Given the description of an element on the screen output the (x, y) to click on. 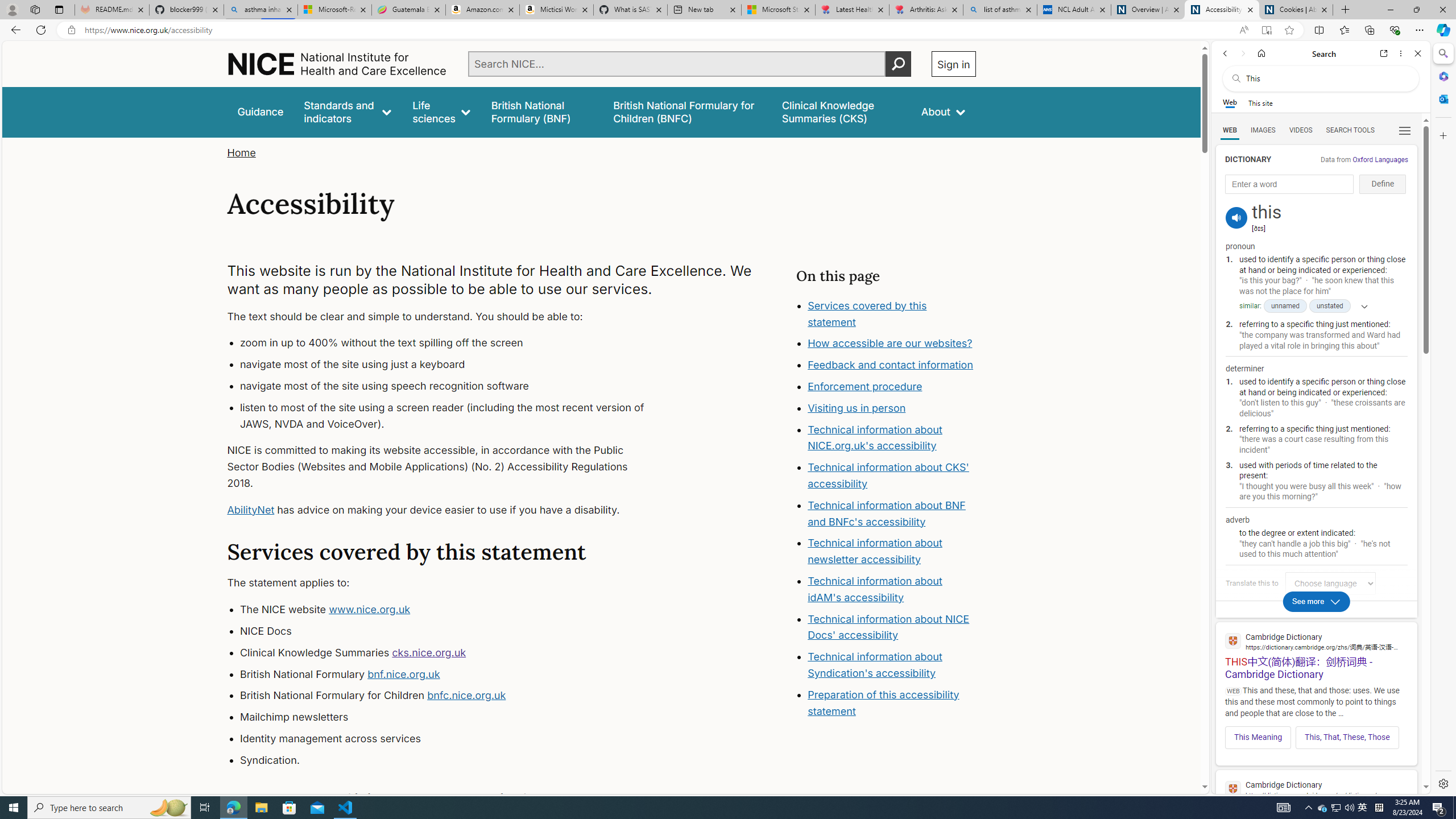
bnfc.nice.org.uk (466, 695)
Technical information about idAM's accessibility (875, 588)
Show more (1360, 305)
Translate this to Choose language (1329, 582)
This Meaning (1258, 737)
Technical information about NICE Docs' accessibility (888, 626)
This, That, These, Those (1347, 737)
